Given the description of an element on the screen output the (x, y) to click on. 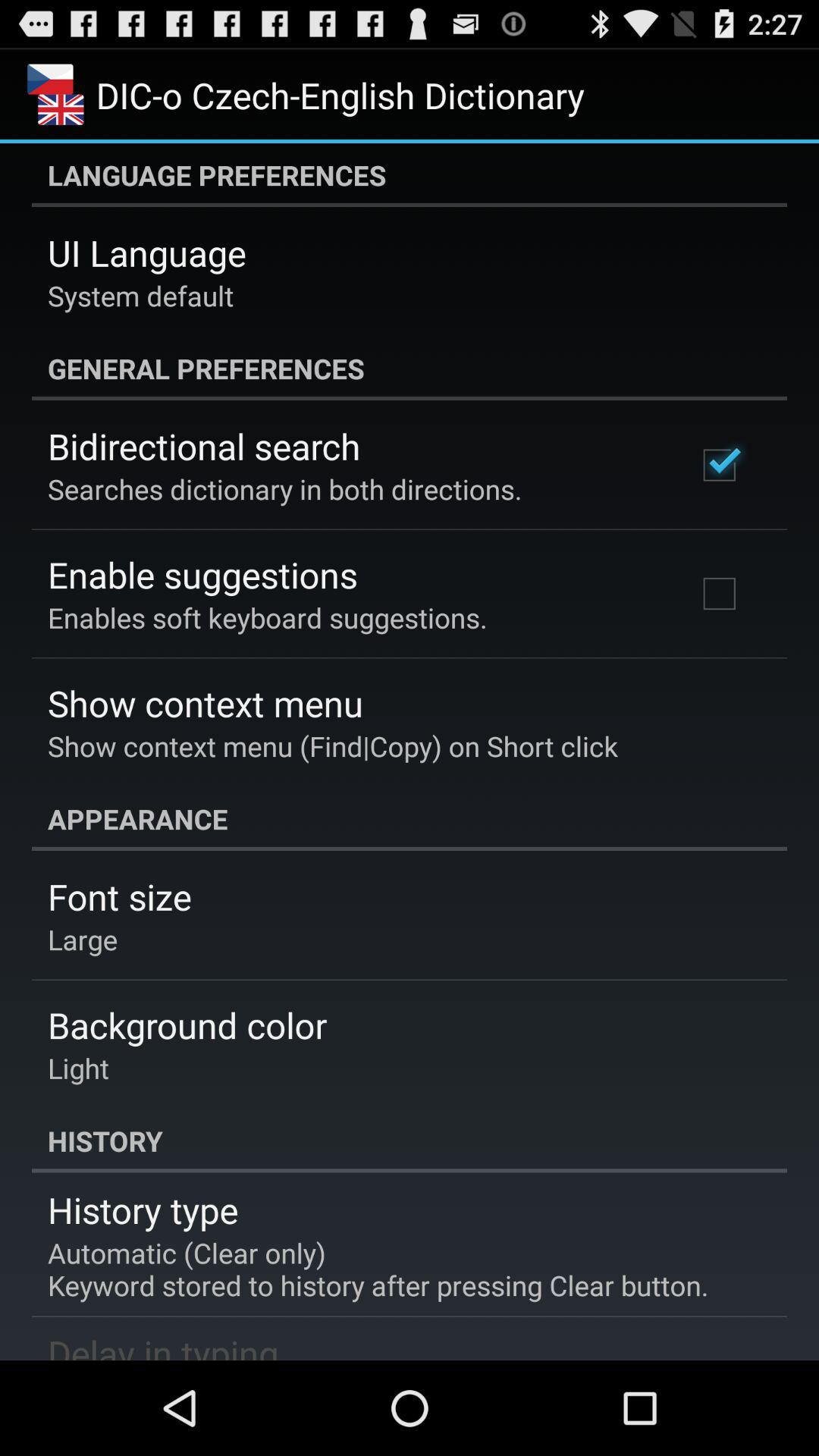
tap the icon below the font size (82, 939)
